Given the description of an element on the screen output the (x, y) to click on. 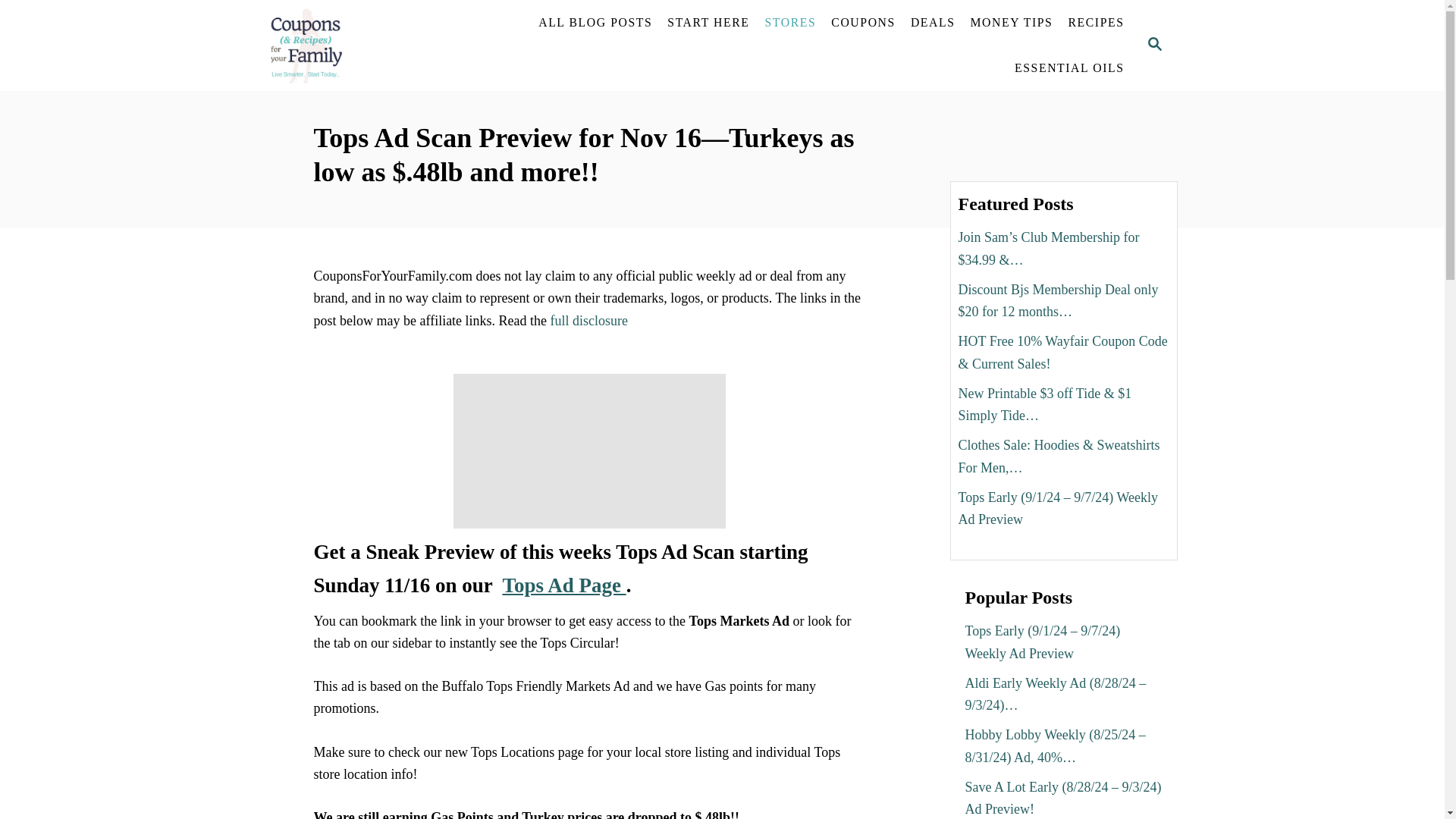
SEARCH (1153, 45)
START HERE (708, 22)
Tops Weekly Sales Ad and Coupons (588, 450)
ALL BLOG POSTS (595, 22)
STORES (790, 22)
Tops Ad Scan and Sale Preview (564, 585)
